Given the description of an element on the screen output the (x, y) to click on. 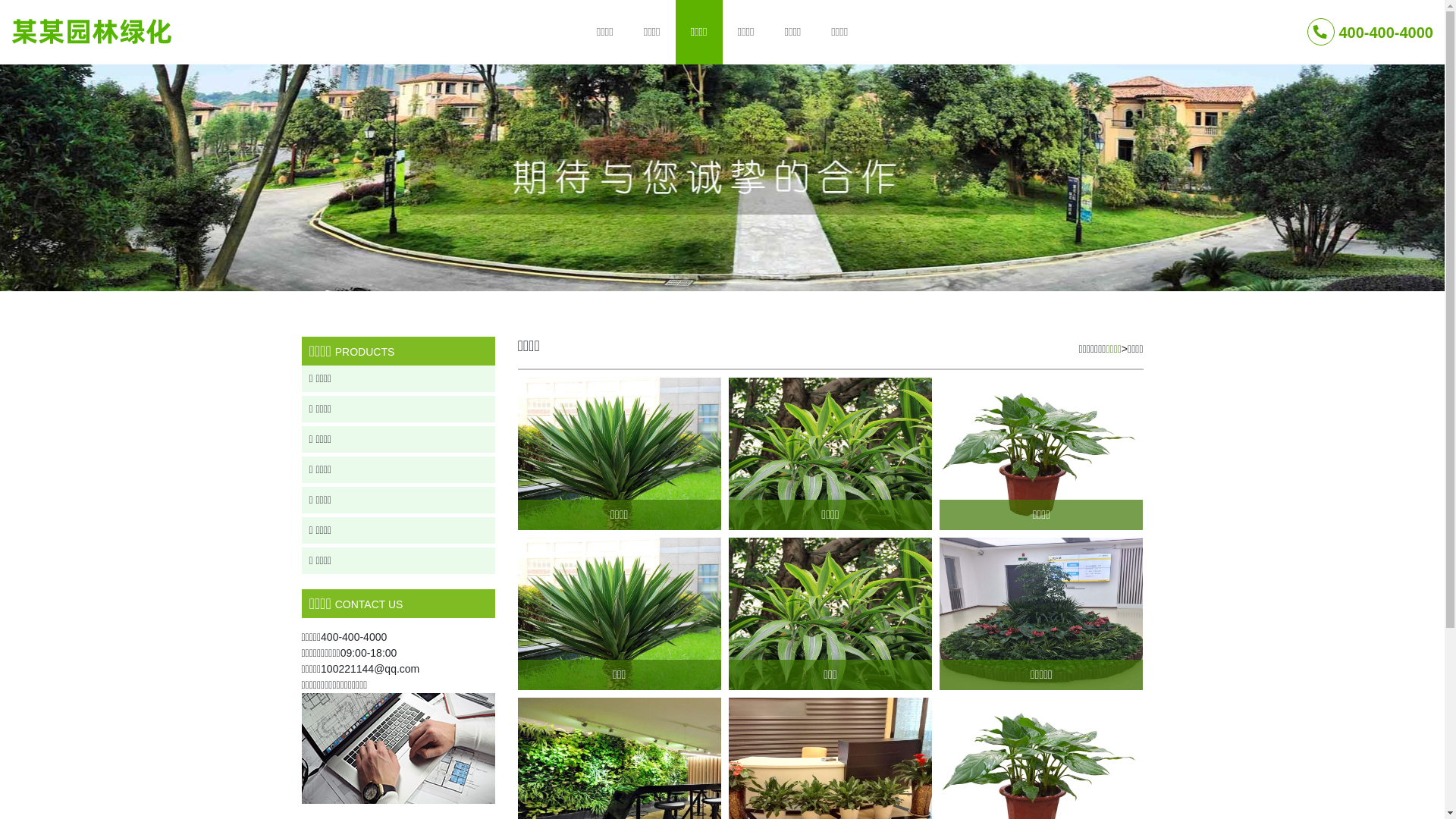
400-400-4000 Element type: text (1369, 31)
